Given the description of an element on the screen output the (x, y) to click on. 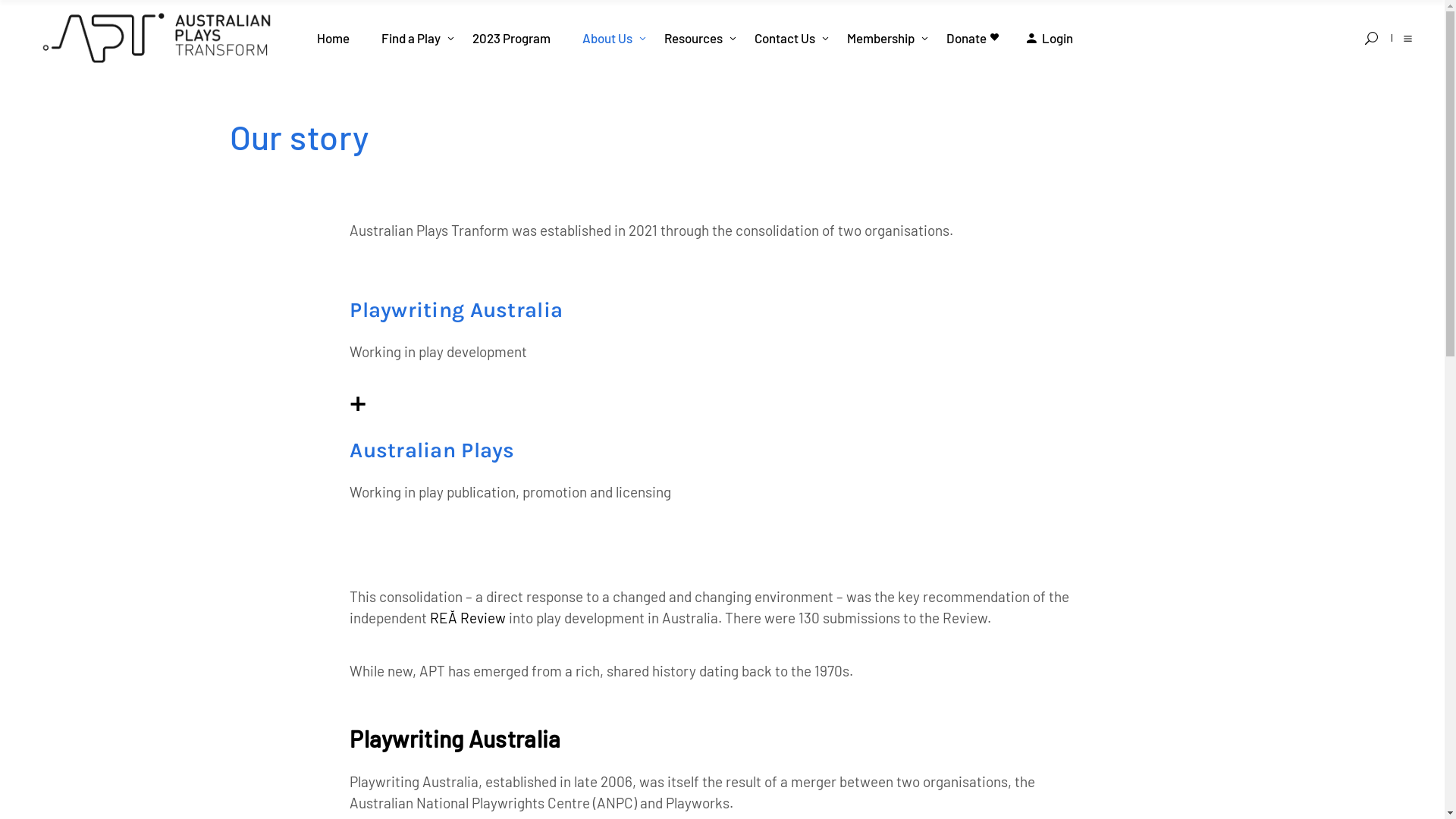
Membership Element type: text (880, 37)
Resources Element type: text (693, 37)
Donate Element type: text (970, 37)
Contact Us Element type: text (784, 37)
Home Element type: text (333, 37)
Login Element type: text (1049, 37)
About Us Element type: text (607, 37)
2023 Program Element type: text (511, 37)
Find a Play Element type: text (410, 37)
